Given the description of an element on the screen output the (x, y) to click on. 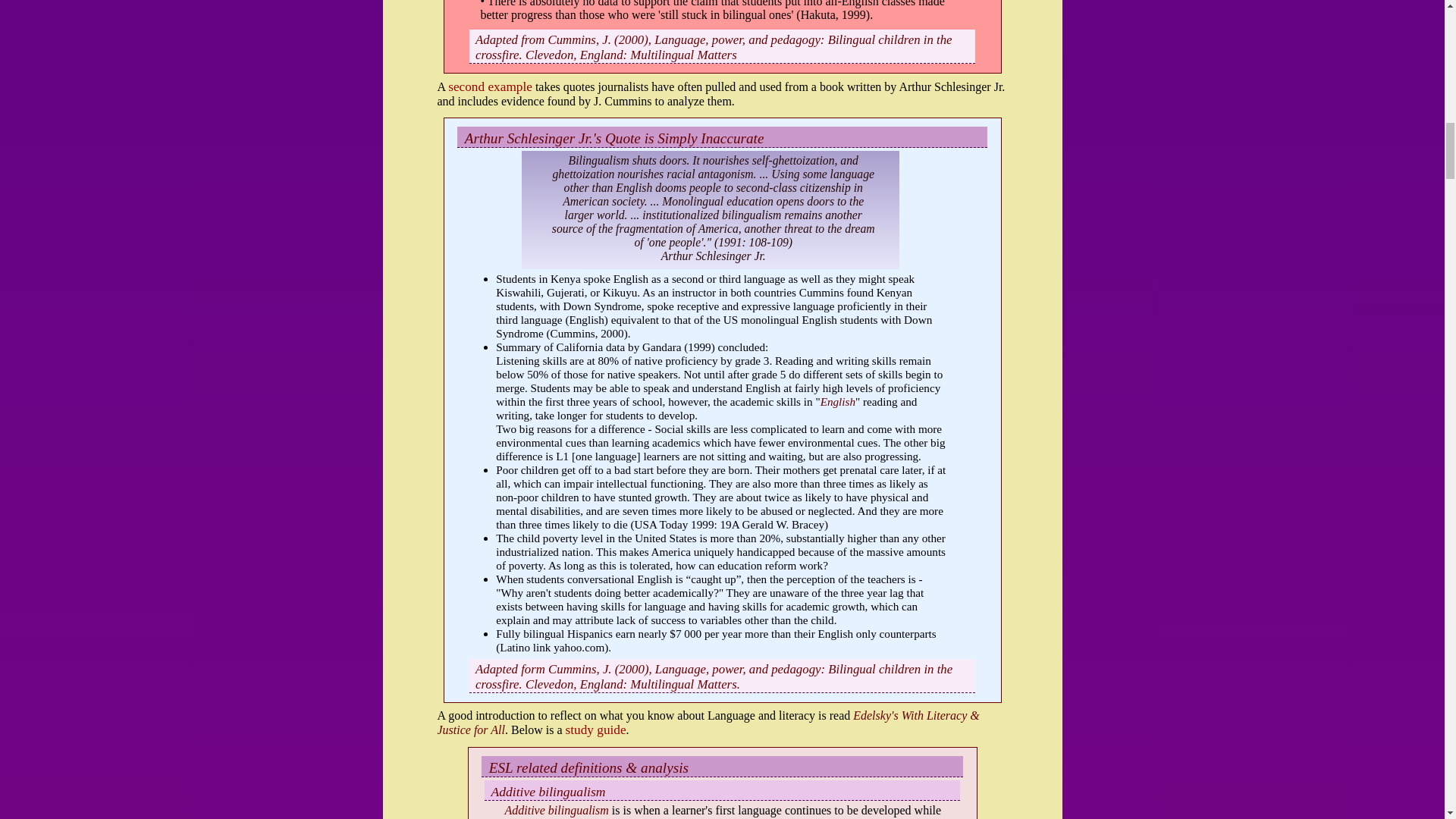
second example (490, 86)
study guide (596, 729)
